Given the description of an element on the screen output the (x, y) to click on. 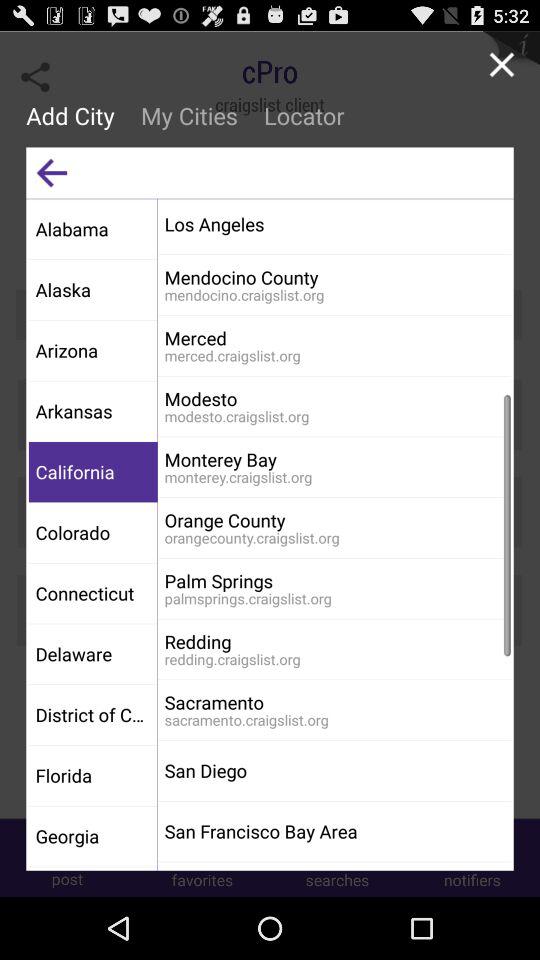
close out of options (501, 63)
